Given the description of an element on the screen output the (x, y) to click on. 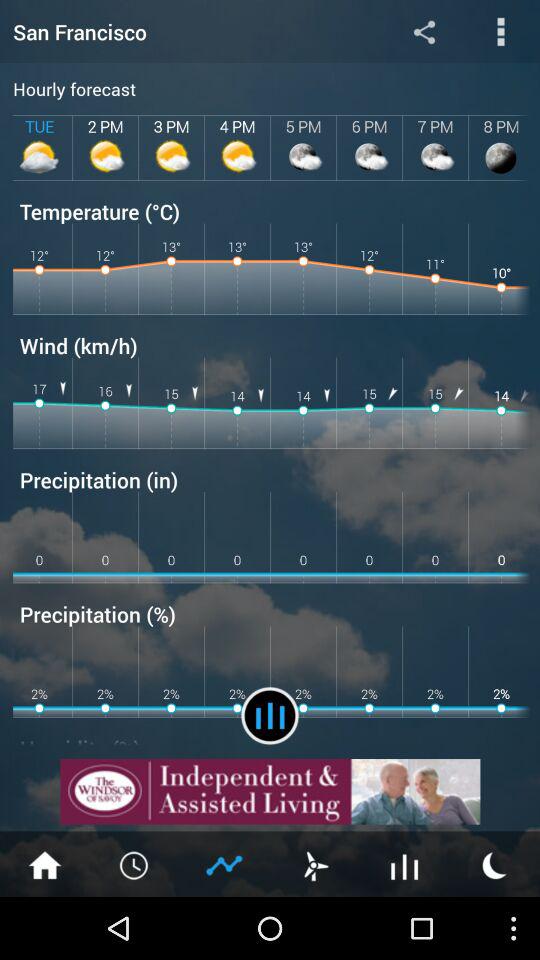
open more options (500, 31)
